Given the description of an element on the screen output the (x, y) to click on. 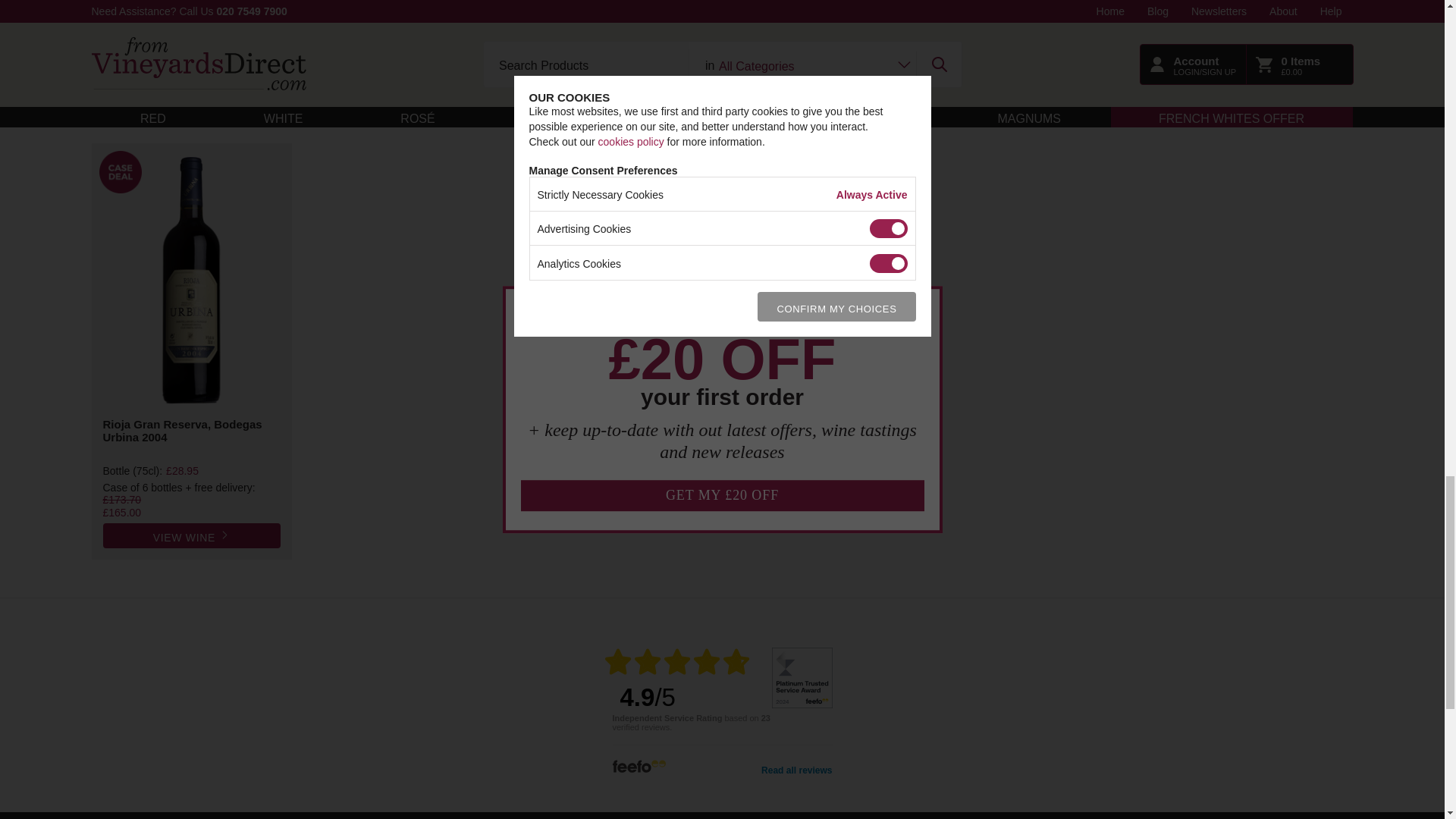
Rioja Gran Reserva, Bodegas Urbina 2004 (192, 437)
